Given the description of an element on the screen output the (x, y) to click on. 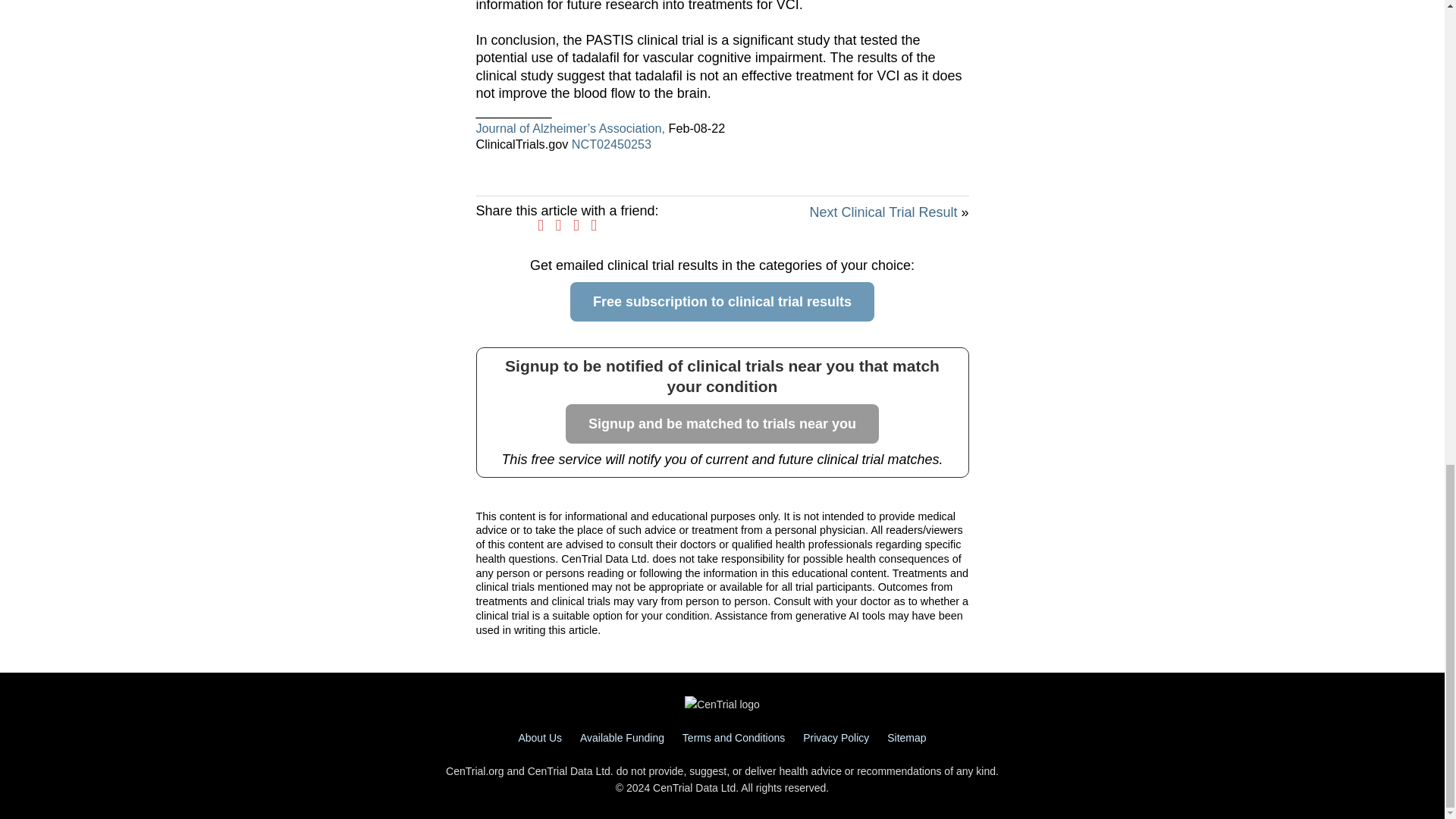
NCT02450253 (611, 143)
Next Clinical Trial Result (882, 212)
Available Funding (621, 737)
Sitemap (906, 737)
Free subscription to clinical trial results (722, 301)
Privacy Policy (836, 737)
Terms and Conditions (733, 737)
About Us (540, 737)
Signup and be matched to trials near you (722, 423)
